Given the description of an element on the screen output the (x, y) to click on. 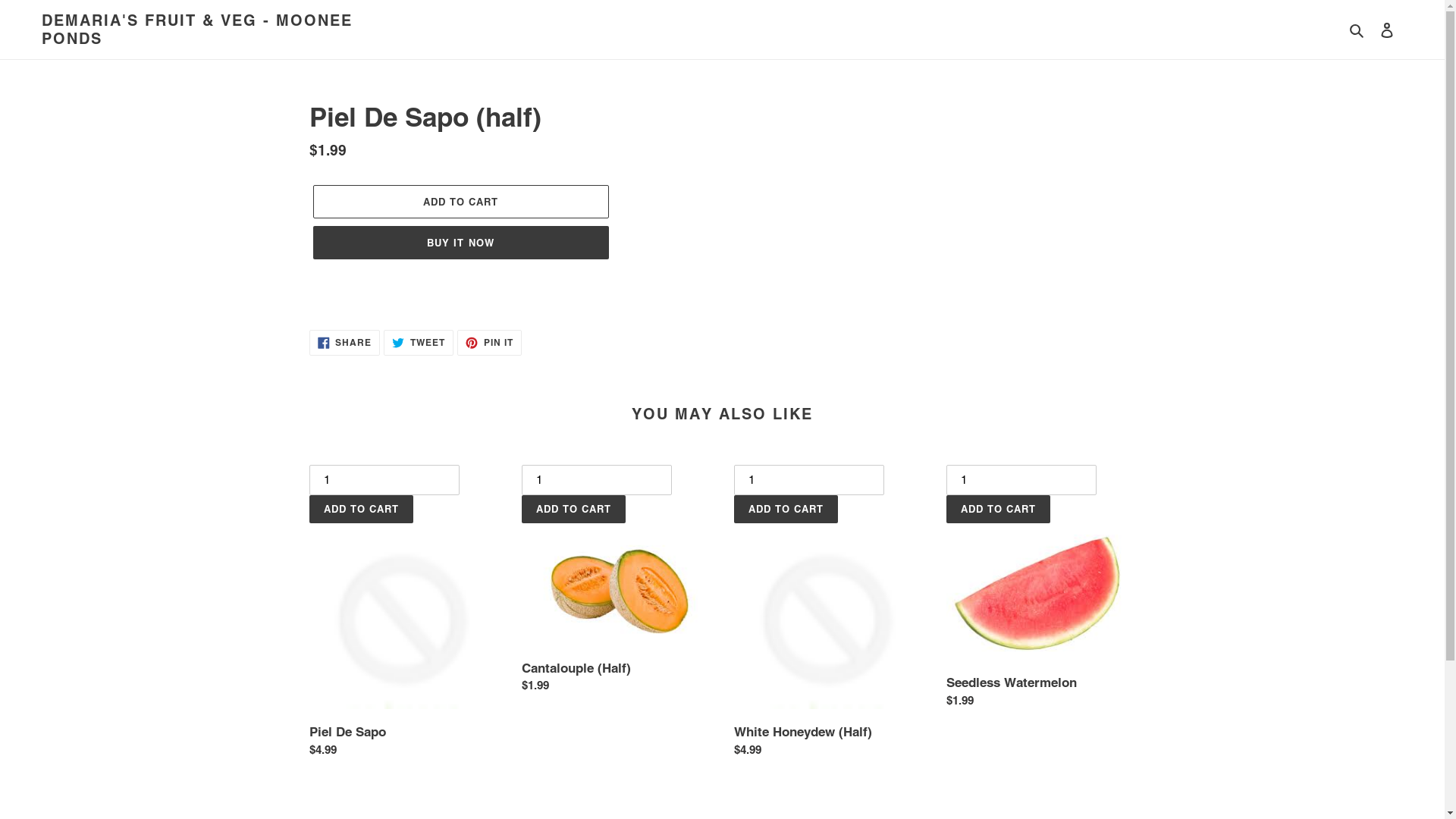
BUY IT NOW Element type: text (460, 242)
SHARE
SHARE ON FACEBOOK Element type: text (344, 342)
Search Element type: text (1357, 29)
Add to cart Element type: text (785, 509)
White Honeydew (Half) Element type: text (828, 614)
DEMARIA'S FRUIT & VEG - MOONEE PONDS Element type: text (211, 29)
Cantalouple (Half) Element type: text (616, 582)
TWEET
TWEET ON TWITTER Element type: text (418, 342)
Log in Element type: text (1386, 29)
ADD TO CART Element type: text (460, 201)
Add to cart Element type: text (361, 509)
Seedless Watermelon Element type: text (1040, 589)
Piel De Sapo Element type: text (403, 614)
PIN IT
PIN ON PINTEREST Element type: text (489, 342)
Add to cart Element type: text (573, 509)
Add to cart Element type: text (998, 509)
